Given the description of an element on the screen output the (x, y) to click on. 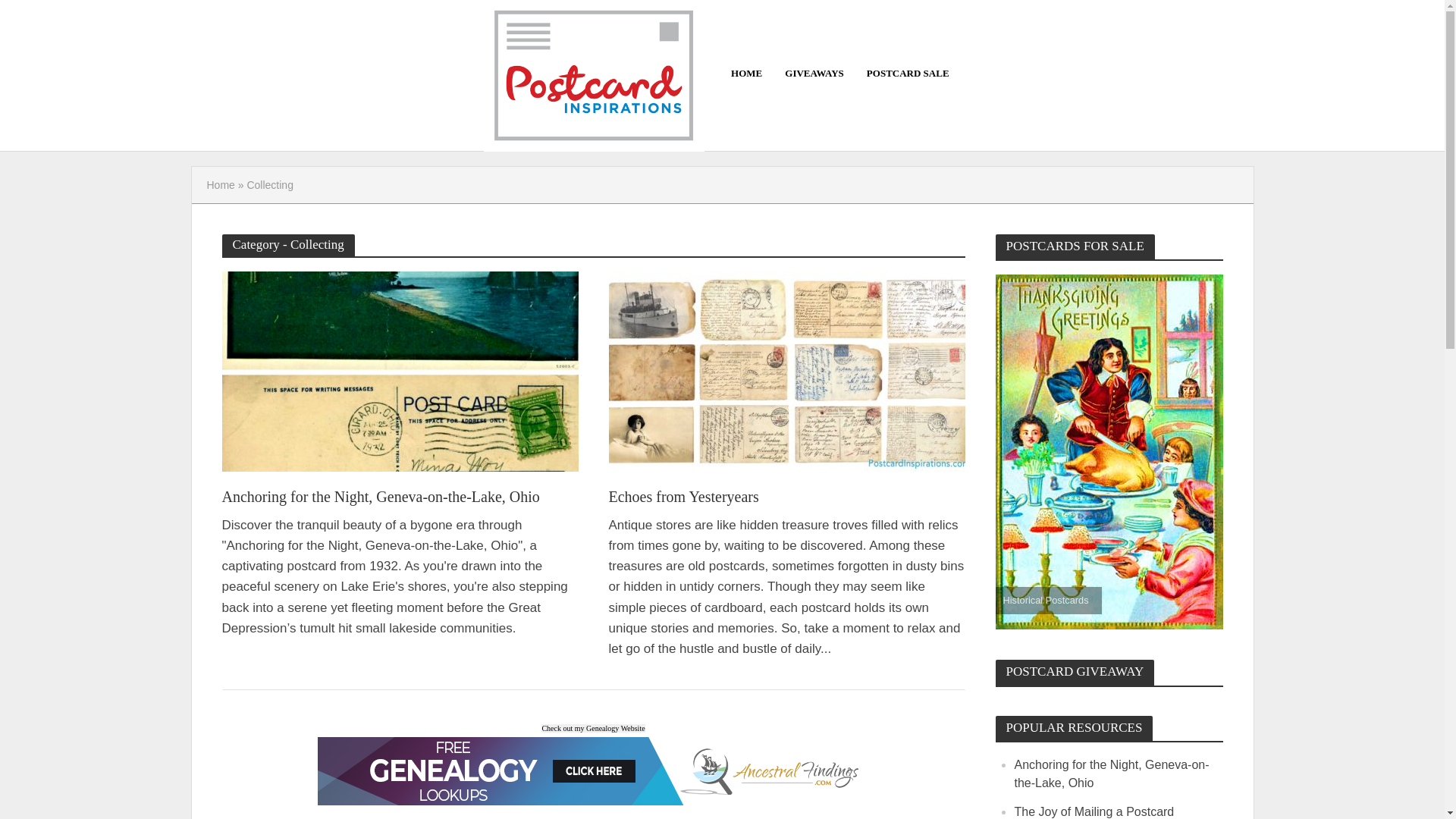
Anchoring for the Night, Geneva-on-the-Lake, Ohio (399, 370)
Anchoring for the Night, Geneva-on-the-Lake, Ohio (1111, 773)
Home (220, 184)
POSTCARD SALE (908, 73)
HOME (746, 73)
Check out my Genealogy Website (593, 726)
Echoes from Yesteryears (785, 496)
Echoes from Yesteryears (785, 370)
The Joy of Mailing a Postcard (1094, 811)
GIVEAWAYS (814, 73)
Anchoring for the Night, Geneva-on-the-Lake, Ohio (399, 496)
